Given the description of an element on the screen output the (x, y) to click on. 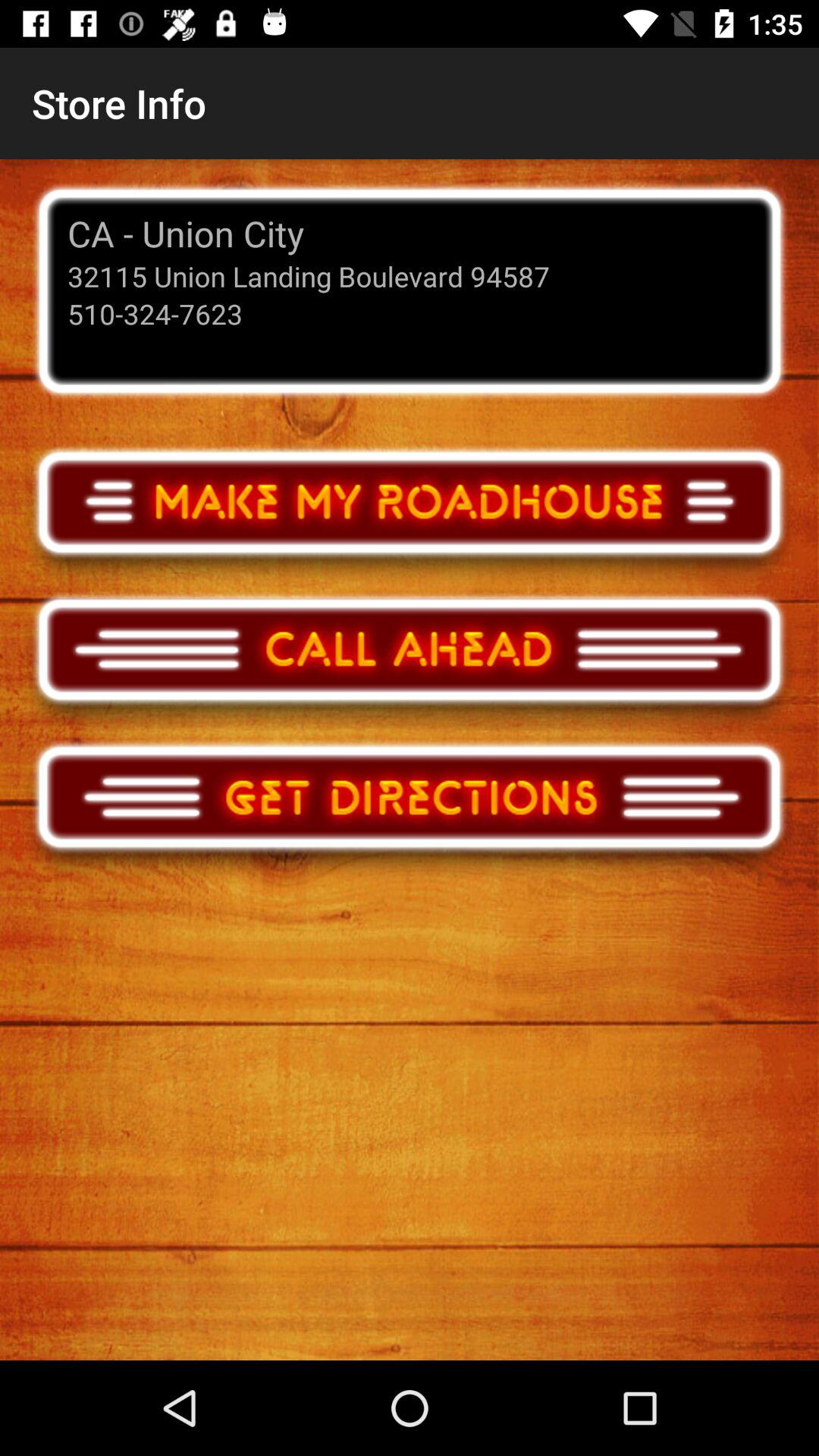
get directions (409, 810)
